Given the description of an element on the screen output the (x, y) to click on. 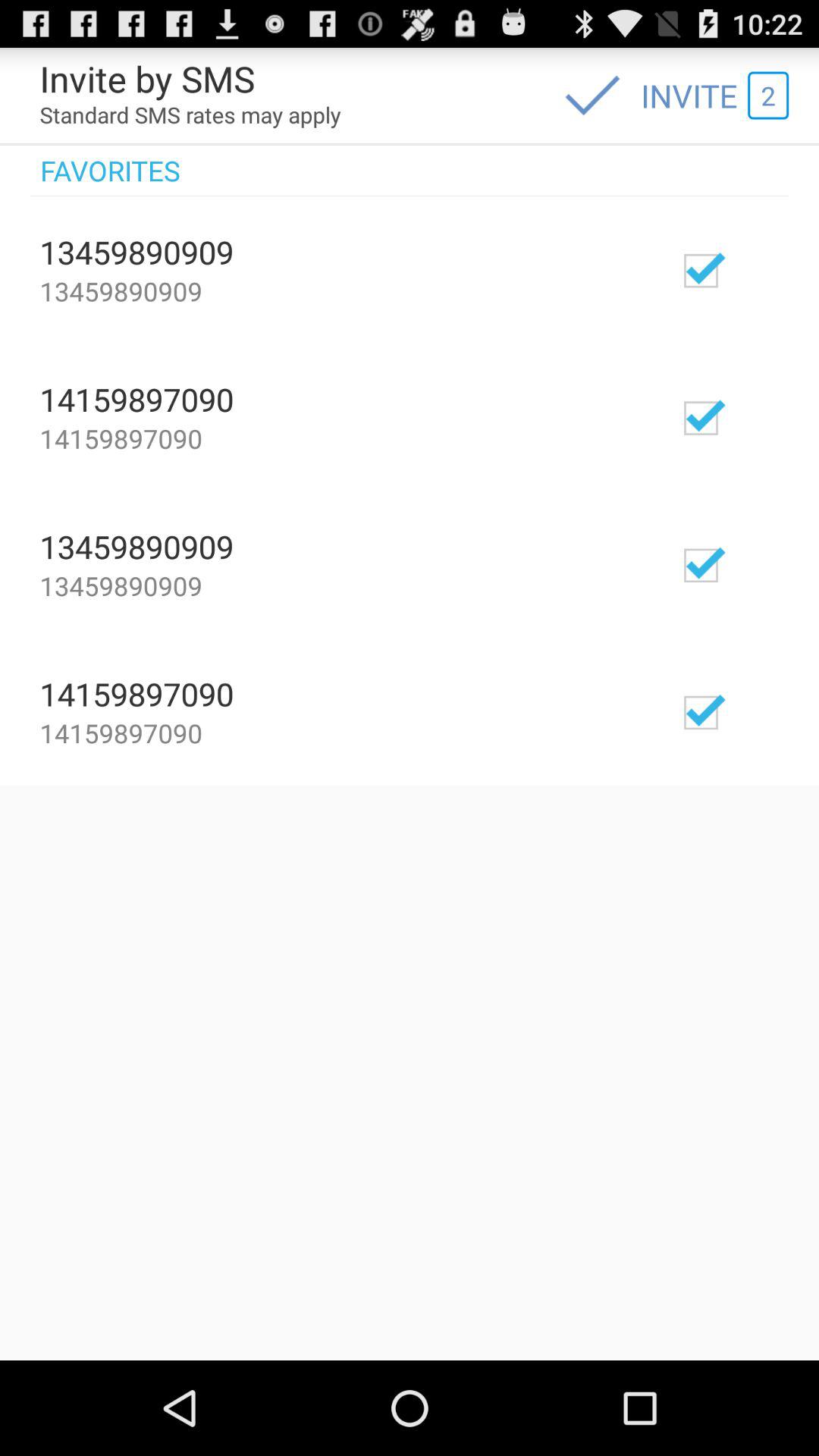
check/uncheck (745, 711)
